Given the description of an element on the screen output the (x, y) to click on. 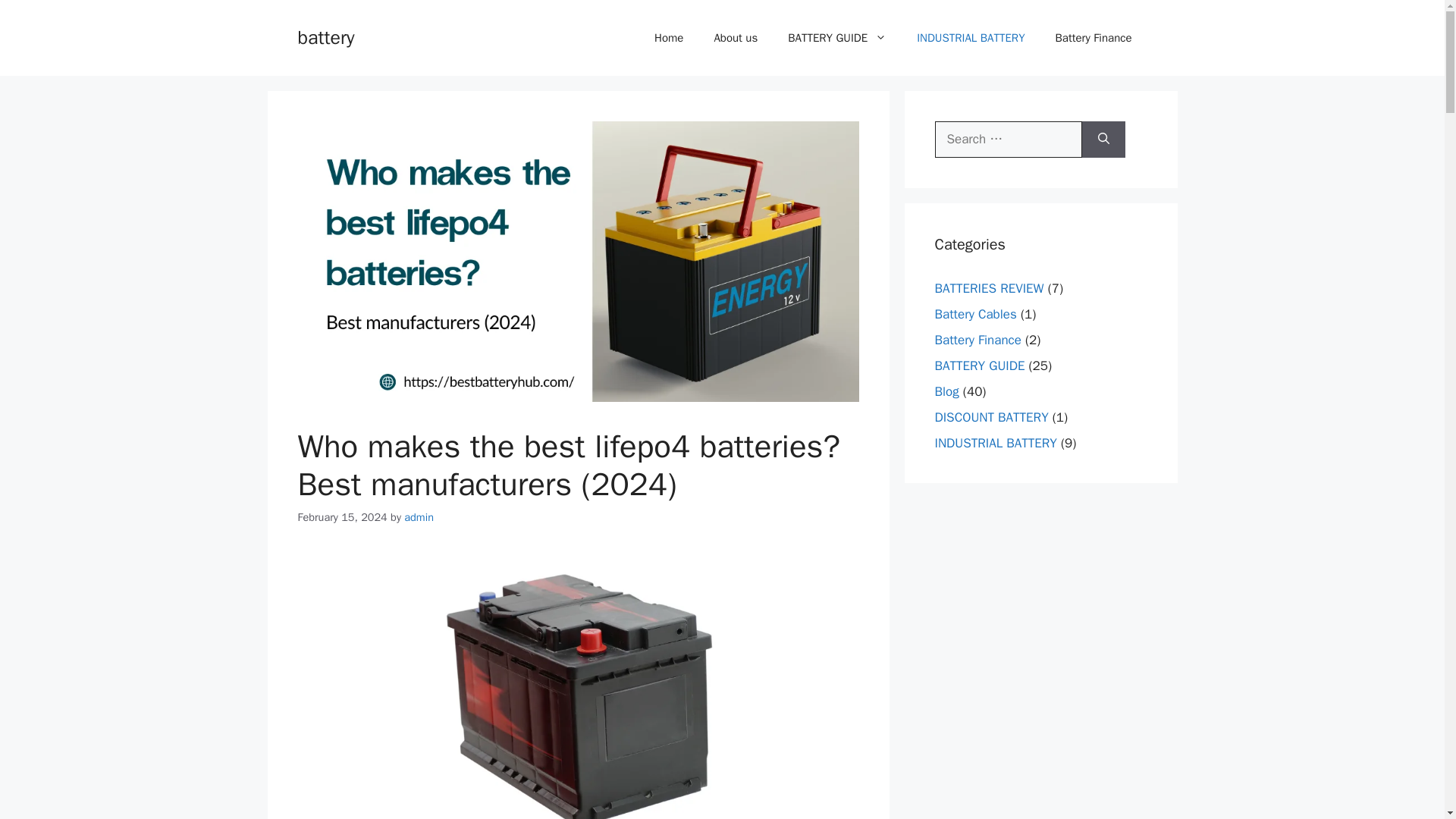
View all posts by admin (418, 517)
BATTERY GUIDE (979, 365)
Battery Finance (1094, 37)
Battery Cables (975, 314)
Blog (946, 391)
battery (325, 37)
BATTERIES REVIEW (988, 288)
admin (418, 517)
DISCOUNT BATTERY (991, 417)
Battery Finance (977, 340)
